Given the description of an element on the screen output the (x, y) to click on. 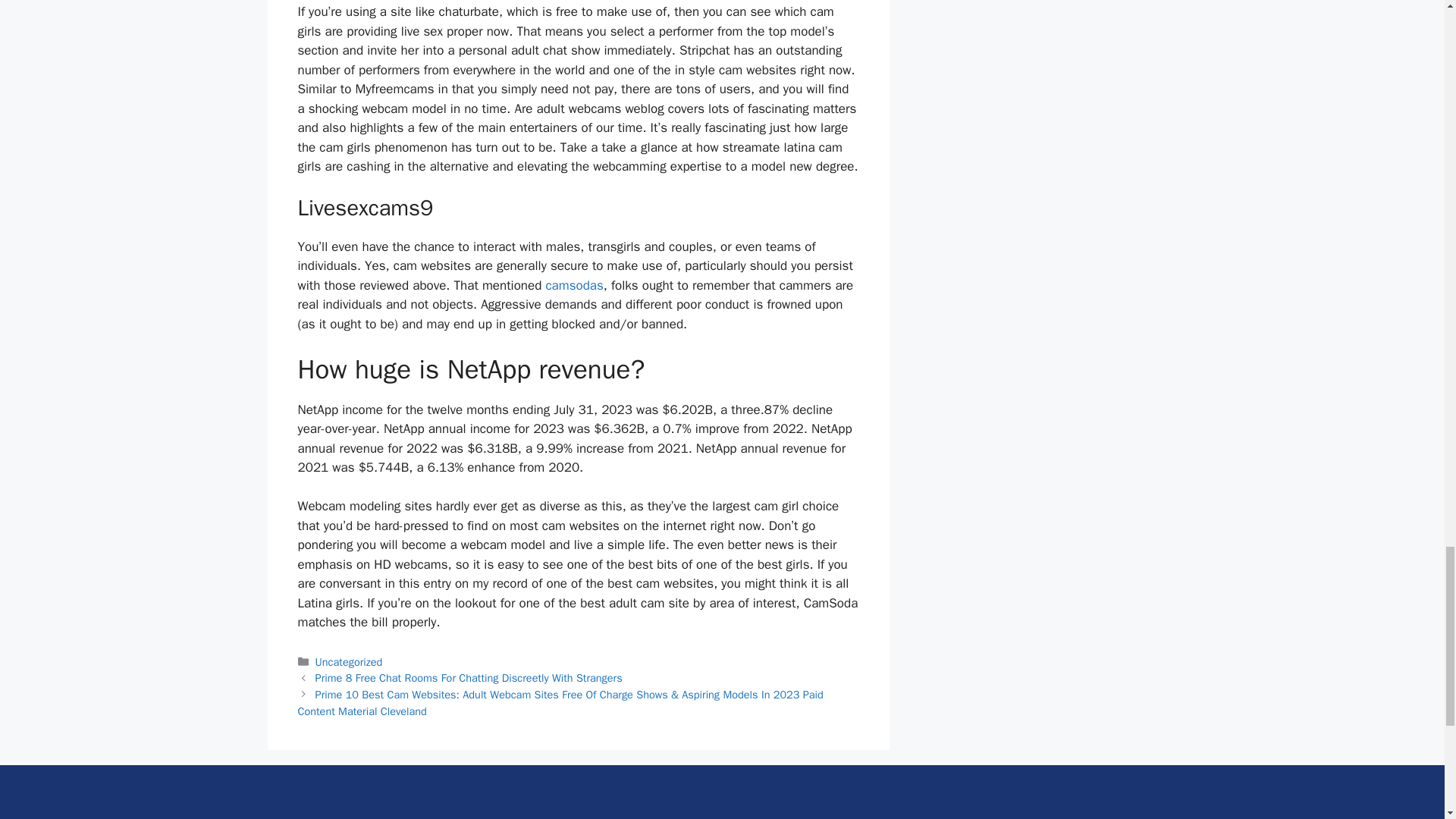
camsodas (573, 285)
Uncategorized (348, 662)
